Given the description of an element on the screen output the (x, y) to click on. 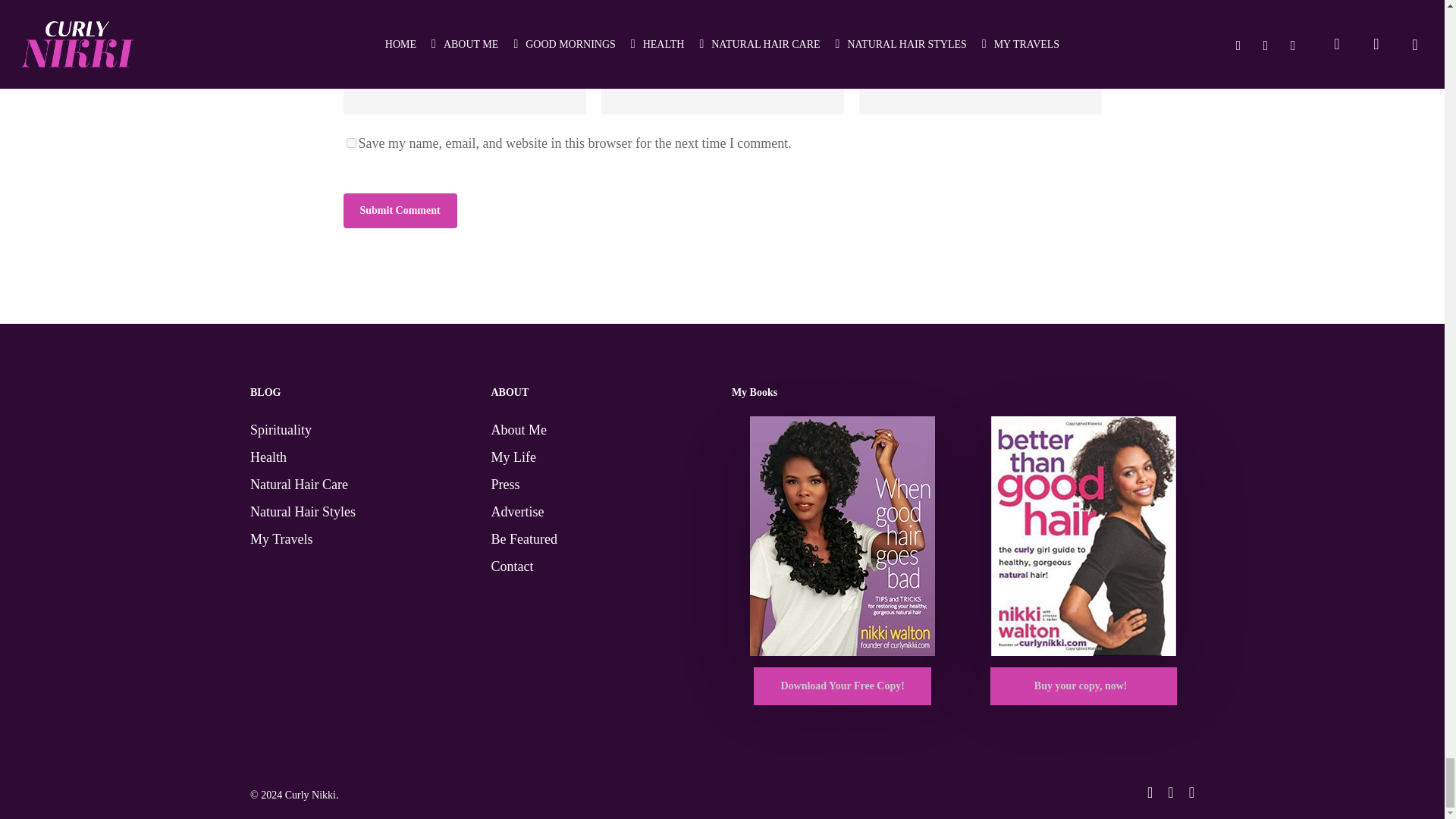
yes (350, 143)
Submit Comment (399, 210)
